Given the description of an element on the screen output the (x, y) to click on. 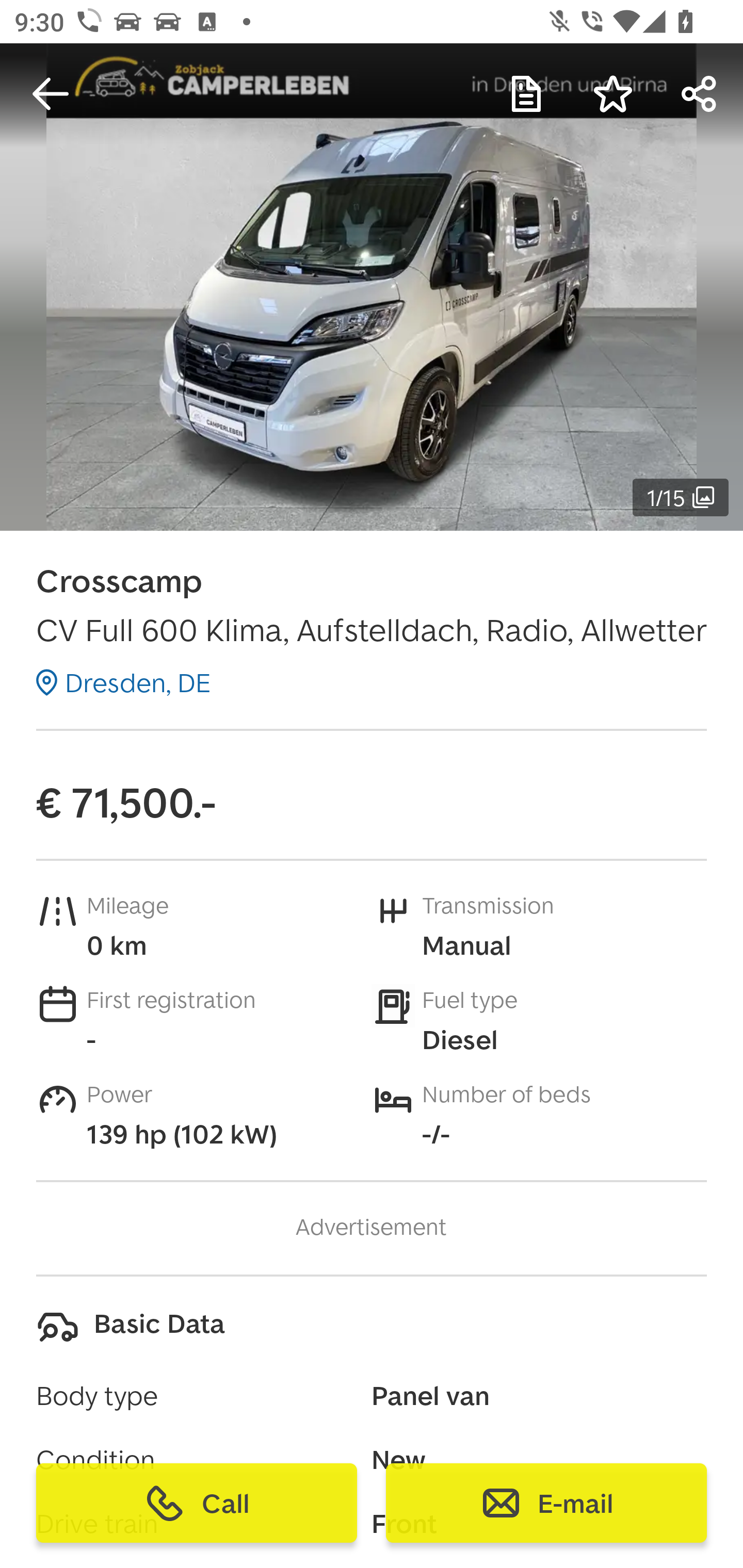
Navigate up (50, 93)
My Notes (525, 93)
Save (612, 93)
Forward (699, 93)
Dresden, DE (123, 681)
Call (196, 1502)
E-mail (545, 1502)
